Given the description of an element on the screen output the (x, y) to click on. 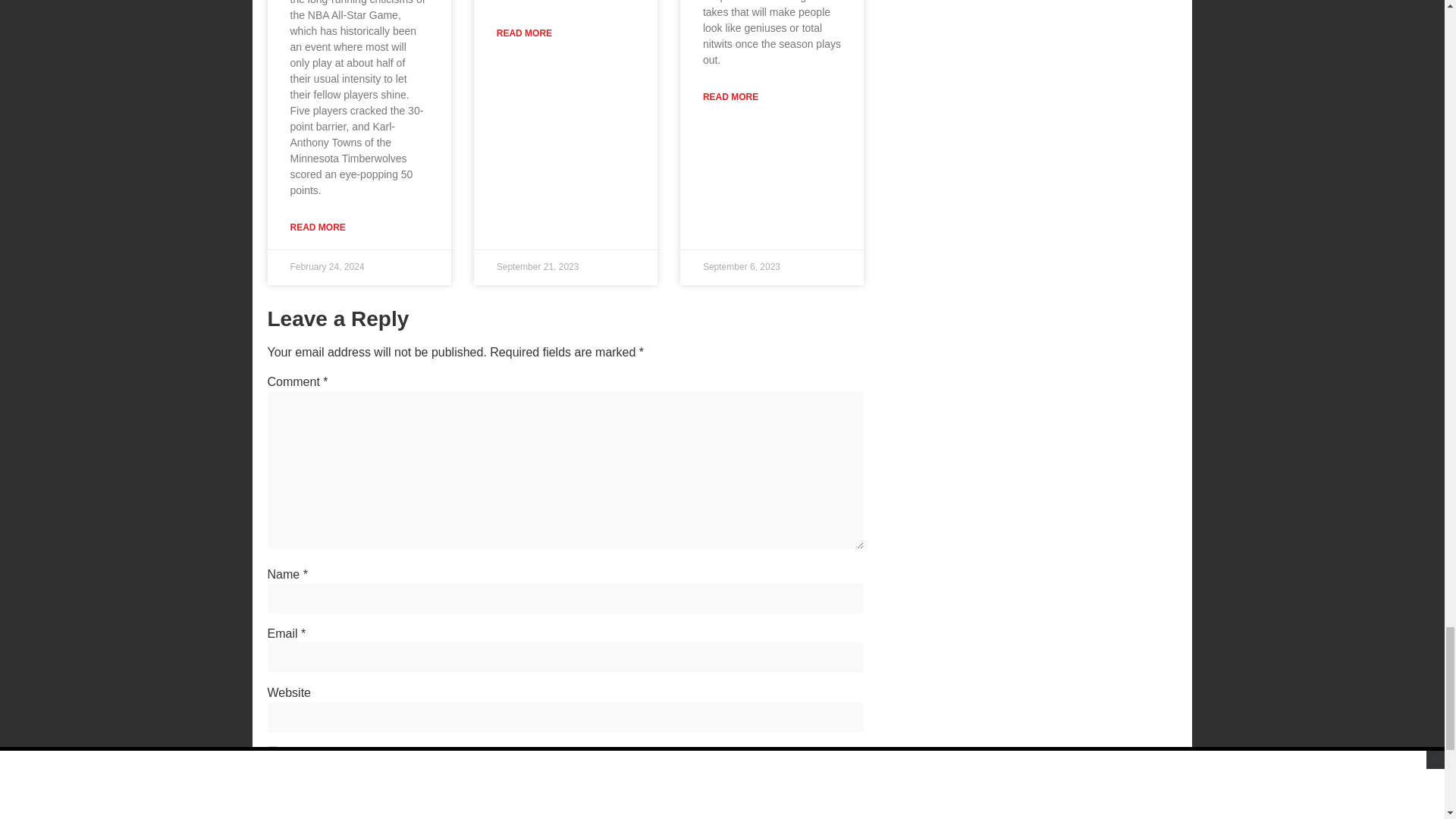
Post Comment (319, 787)
yes (271, 750)
